Given the description of an element on the screen output the (x, y) to click on. 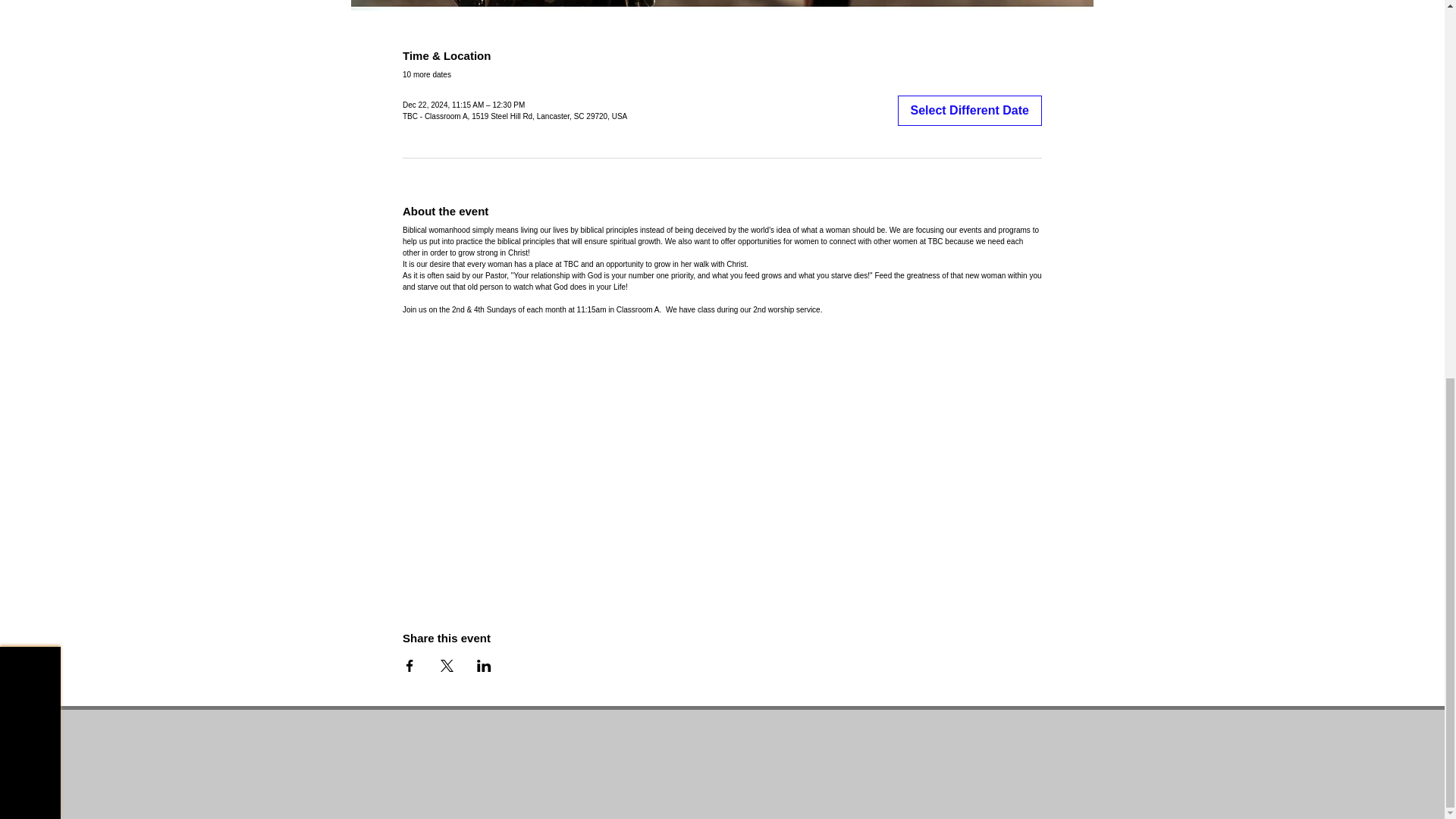
Select Different Date (970, 110)
